Given the description of an element on the screen output the (x, y) to click on. 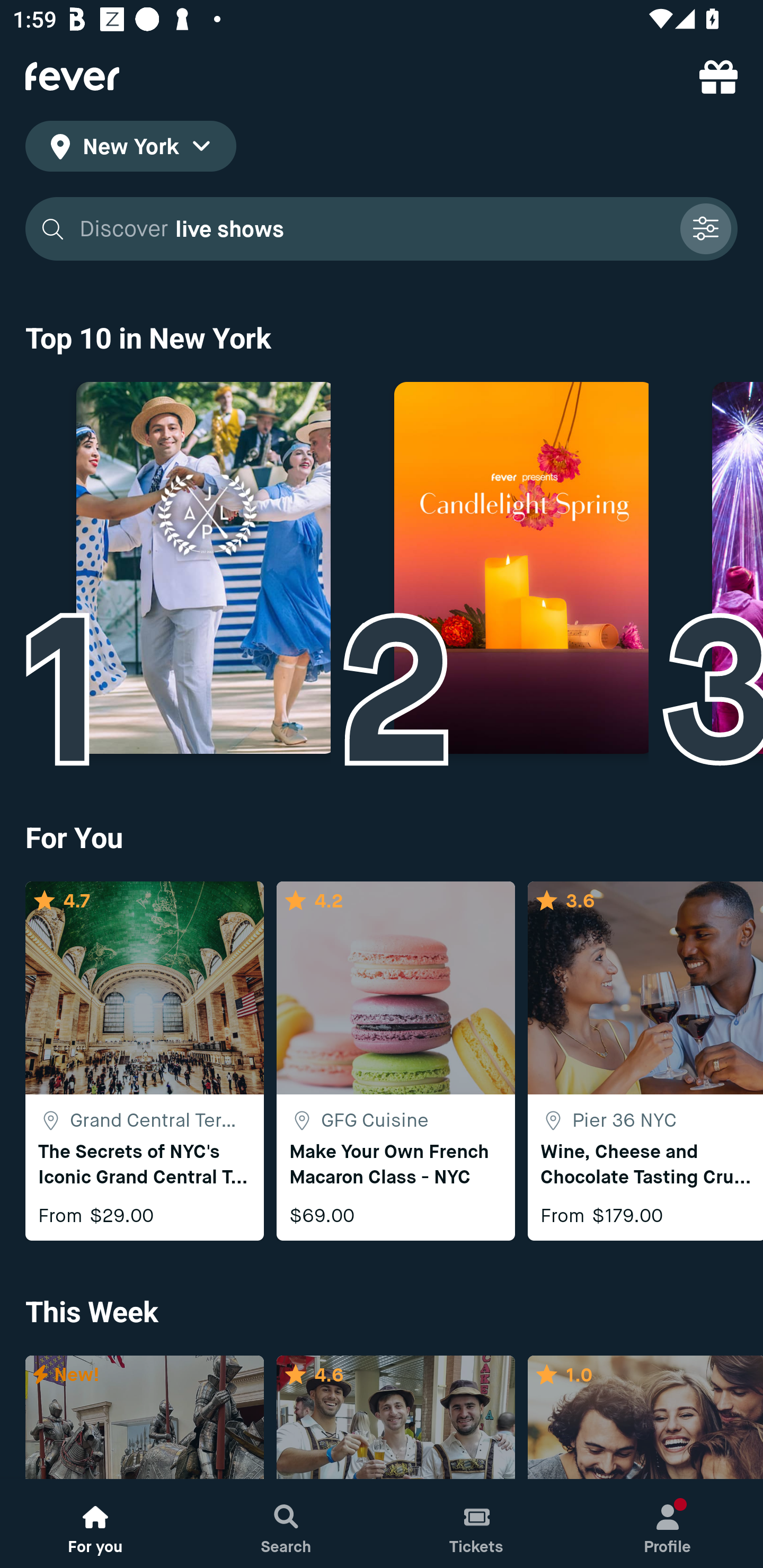
referral (718, 75)
location icon New York location icon (130, 149)
Discover live shows (381, 228)
Discover live shows (373, 228)
cover image New! label New! (144, 1417)
cover image 50.0 4.6 (395, 1417)
cover image 50.0 1.0 (645, 1417)
Search (285, 1523)
Tickets (476, 1523)
Profile, New notification Profile (667, 1523)
